Given the description of an element on the screen output the (x, y) to click on. 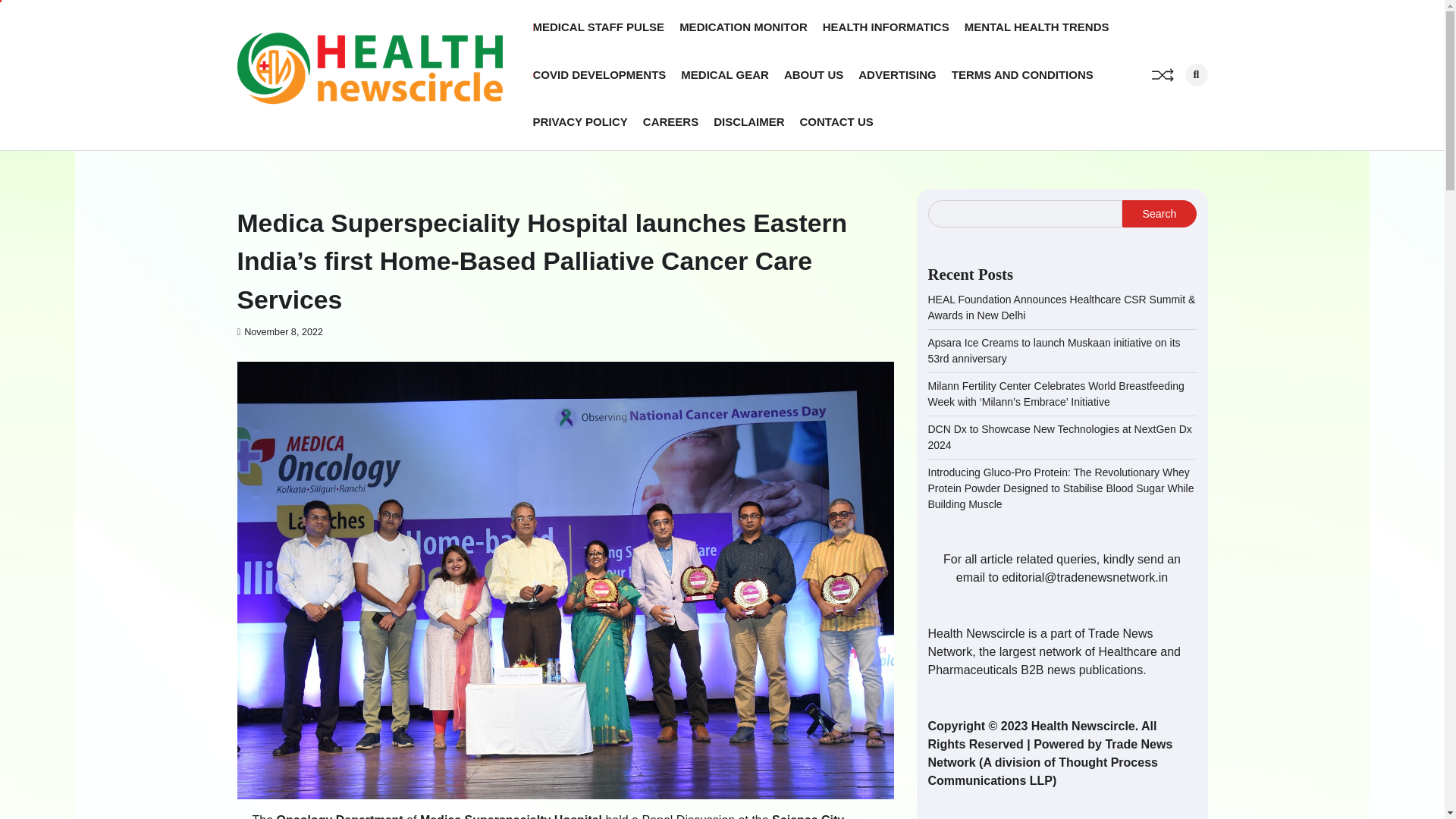
Search (1158, 213)
HEALTH INFORMATICS (885, 27)
CONTACT US (836, 122)
Search (1170, 107)
DISCLAIMER (748, 122)
PRIVACY POLICY (579, 122)
MEDICAL STAFF PULSE (597, 27)
TERMS AND CONDITIONS (1022, 74)
Search (1196, 74)
November 8, 2022 (279, 331)
